Given the description of an element on the screen output the (x, y) to click on. 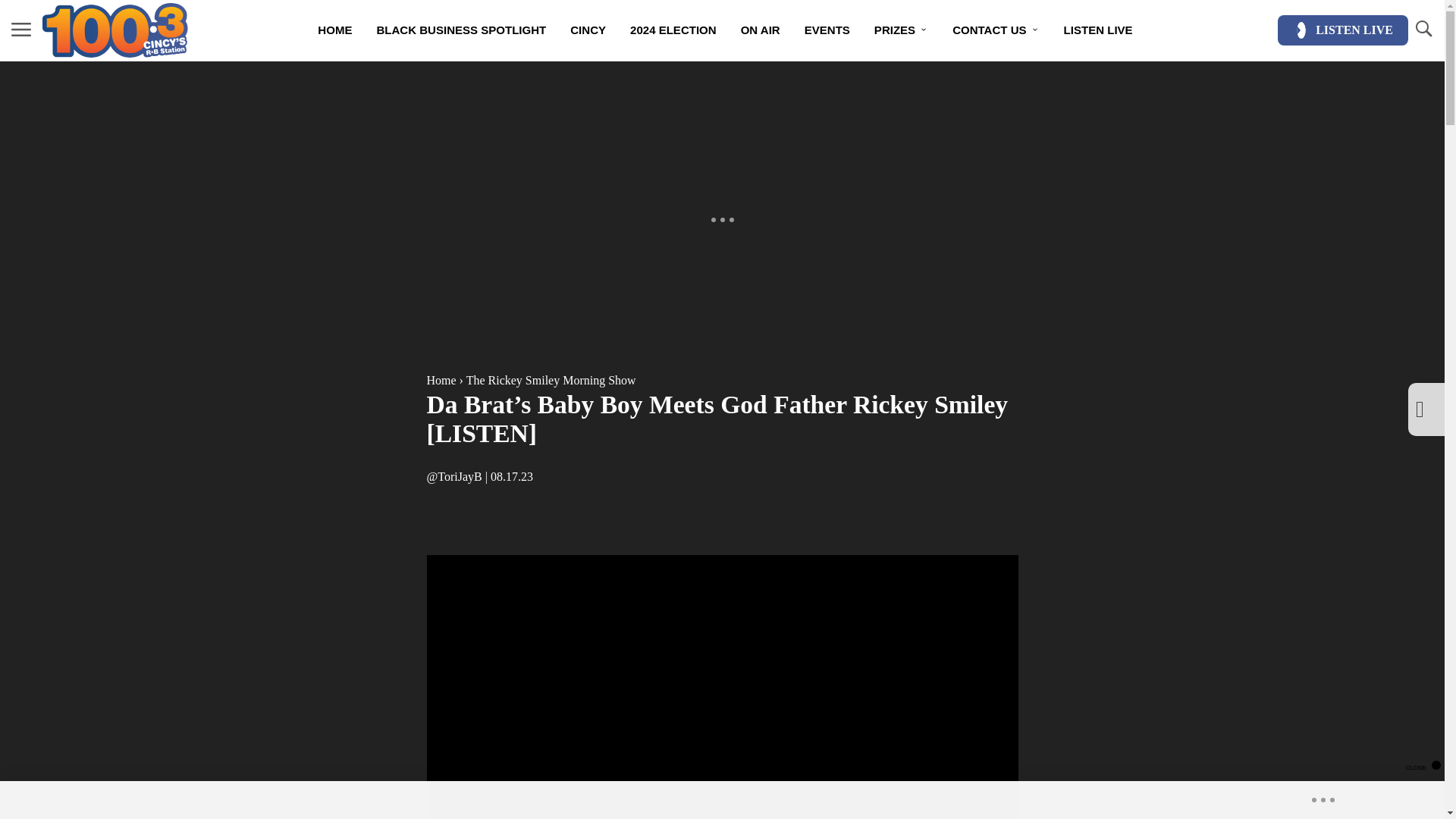
EVENTS (826, 30)
TOGGLE SEARCH (1422, 30)
Home (440, 379)
HOME (334, 30)
CINCY (587, 30)
MENU (20, 29)
BLACK BUSINESS SPOTLIGHT (460, 30)
ON AIR (760, 30)
CONTACT US (995, 30)
MENU (20, 30)
